Given the description of an element on the screen output the (x, y) to click on. 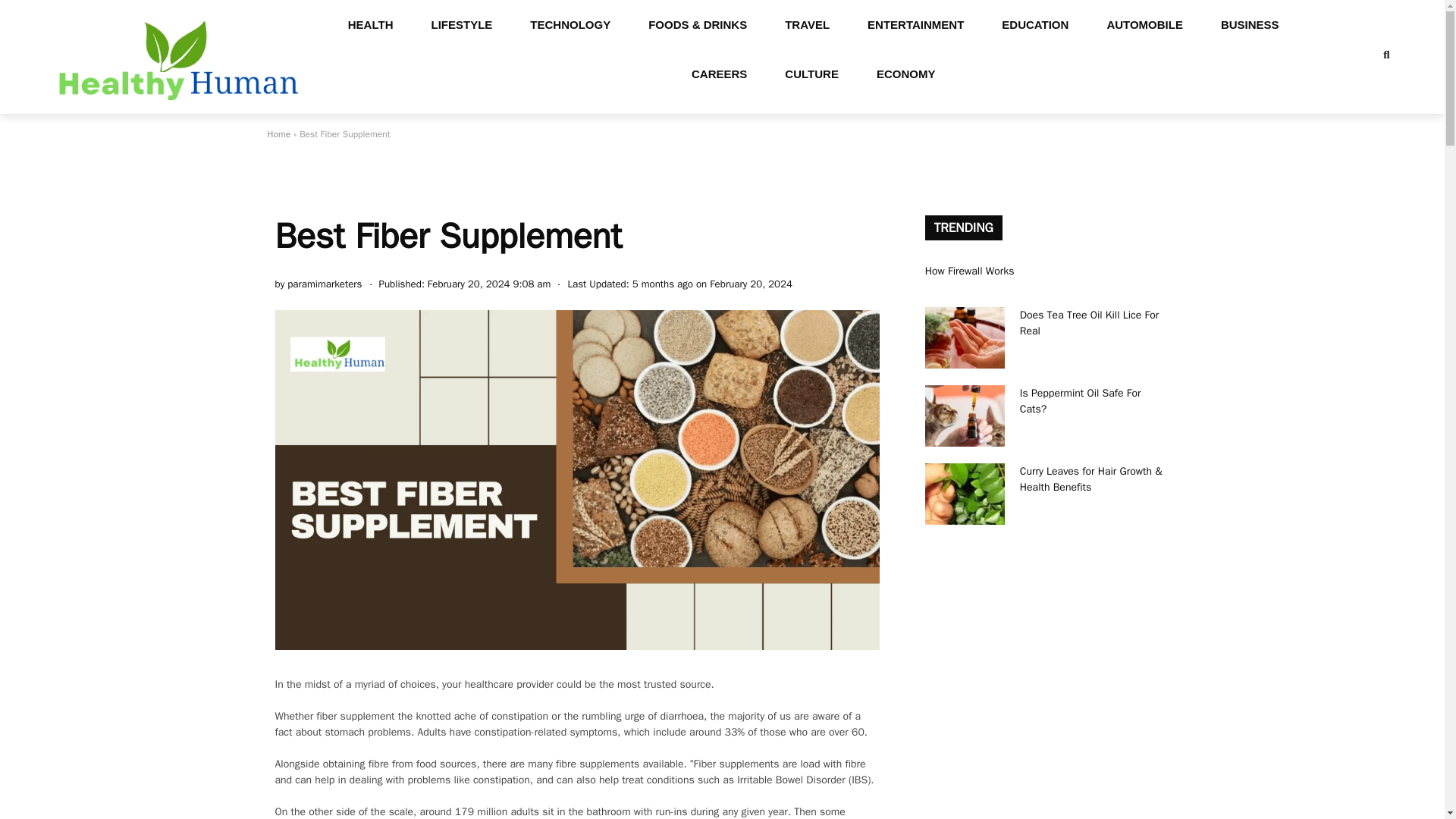
ENTERTAINMENT (915, 24)
EDUCATION (1034, 24)
ECONOMY (906, 73)
BUSINESS (1250, 24)
HEALTH (370, 24)
CAREERS (718, 73)
TRAVEL (806, 24)
TECHNOLOGY (569, 24)
CULTURE (811, 73)
LIFESTYLE (462, 24)
AUTOMOBILE (1144, 24)
